Given the description of an element on the screen output the (x, y) to click on. 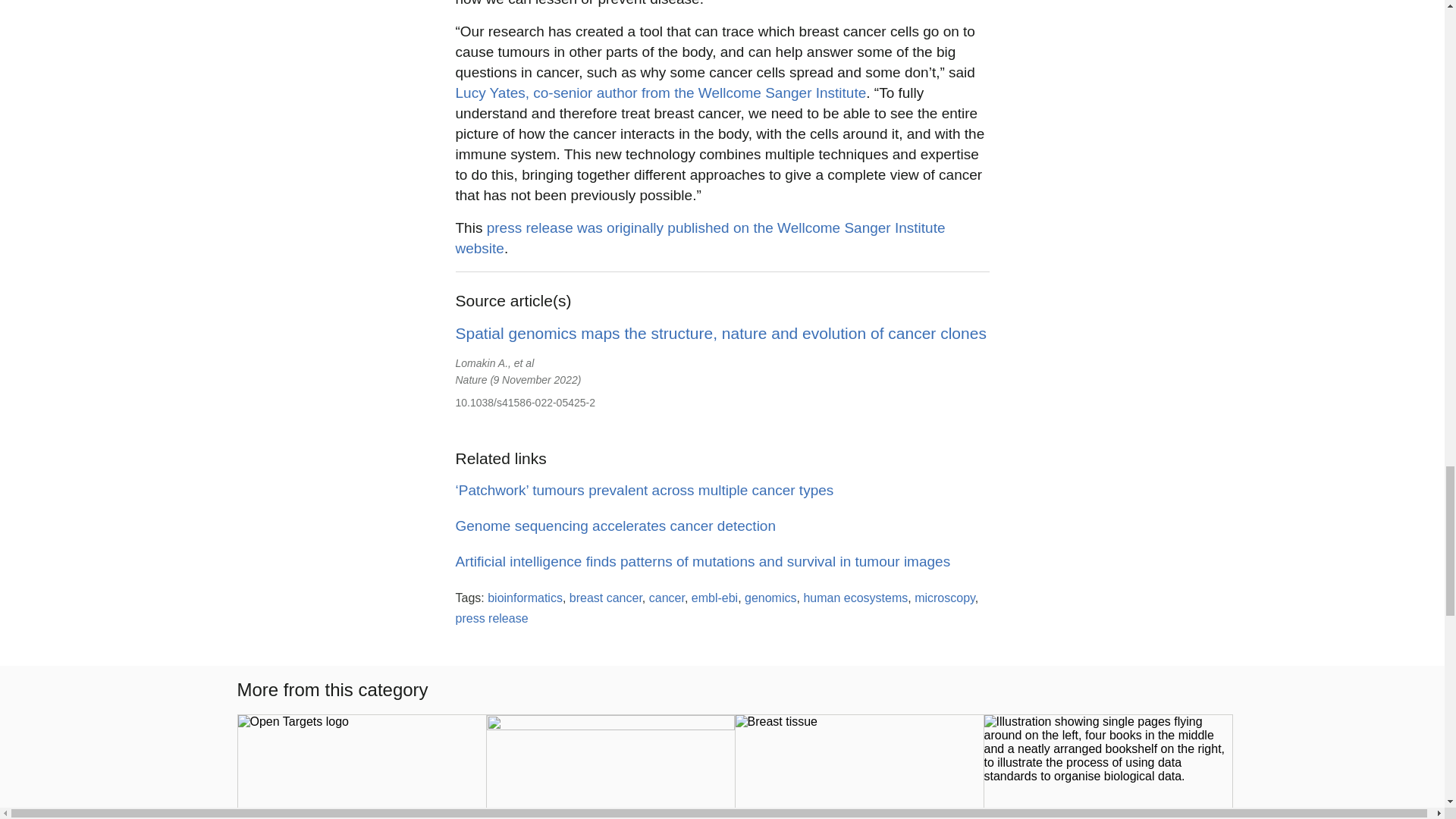
bioinformatics (524, 597)
press release (490, 617)
human ecosystems (855, 597)
microscopy (944, 597)
Genome sequencing accelerates cancer detection (614, 525)
cancer (666, 597)
